Given the description of an element on the screen output the (x, y) to click on. 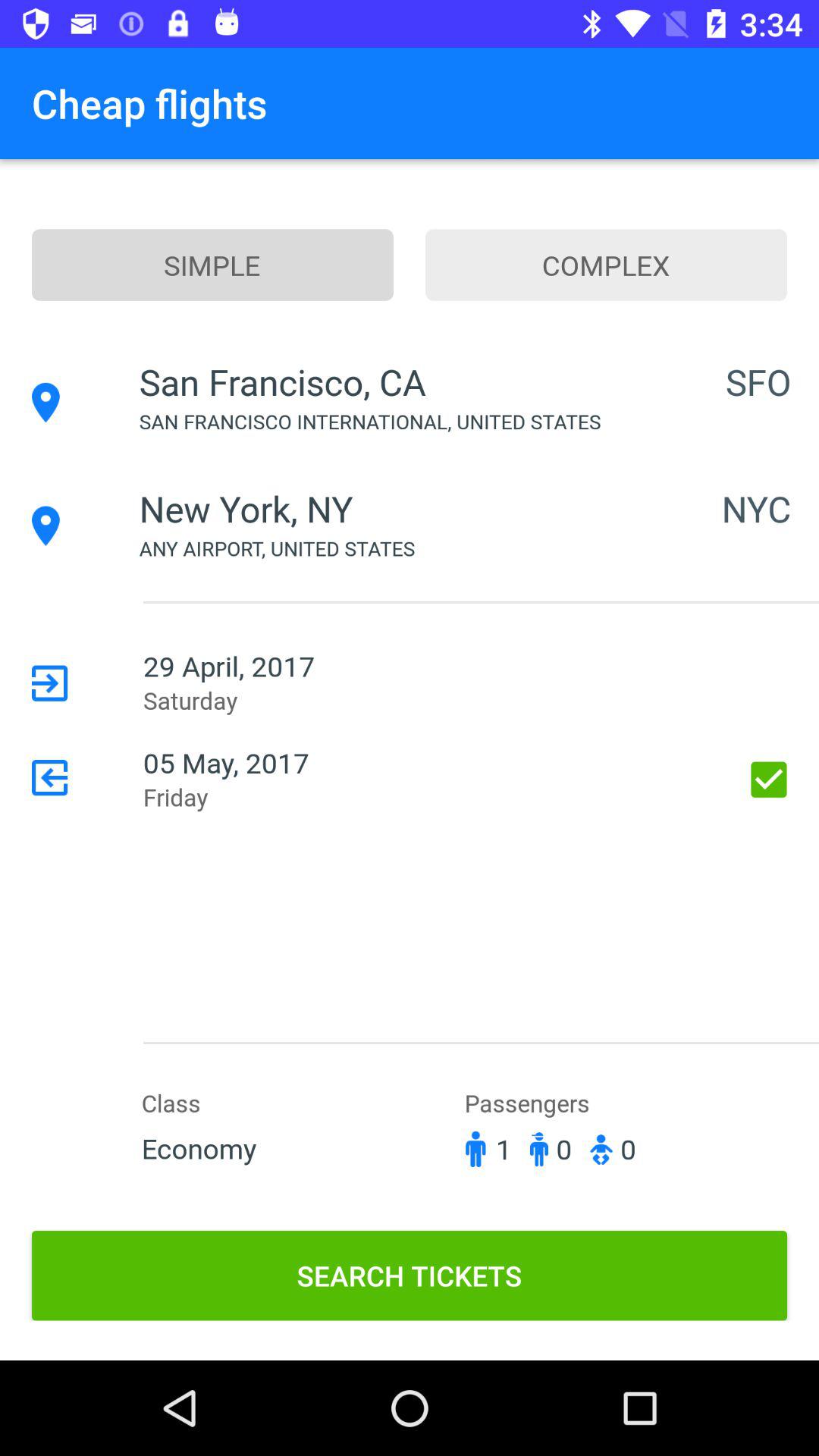
select the search tickets item (409, 1275)
